Given the description of an element on the screen output the (x, y) to click on. 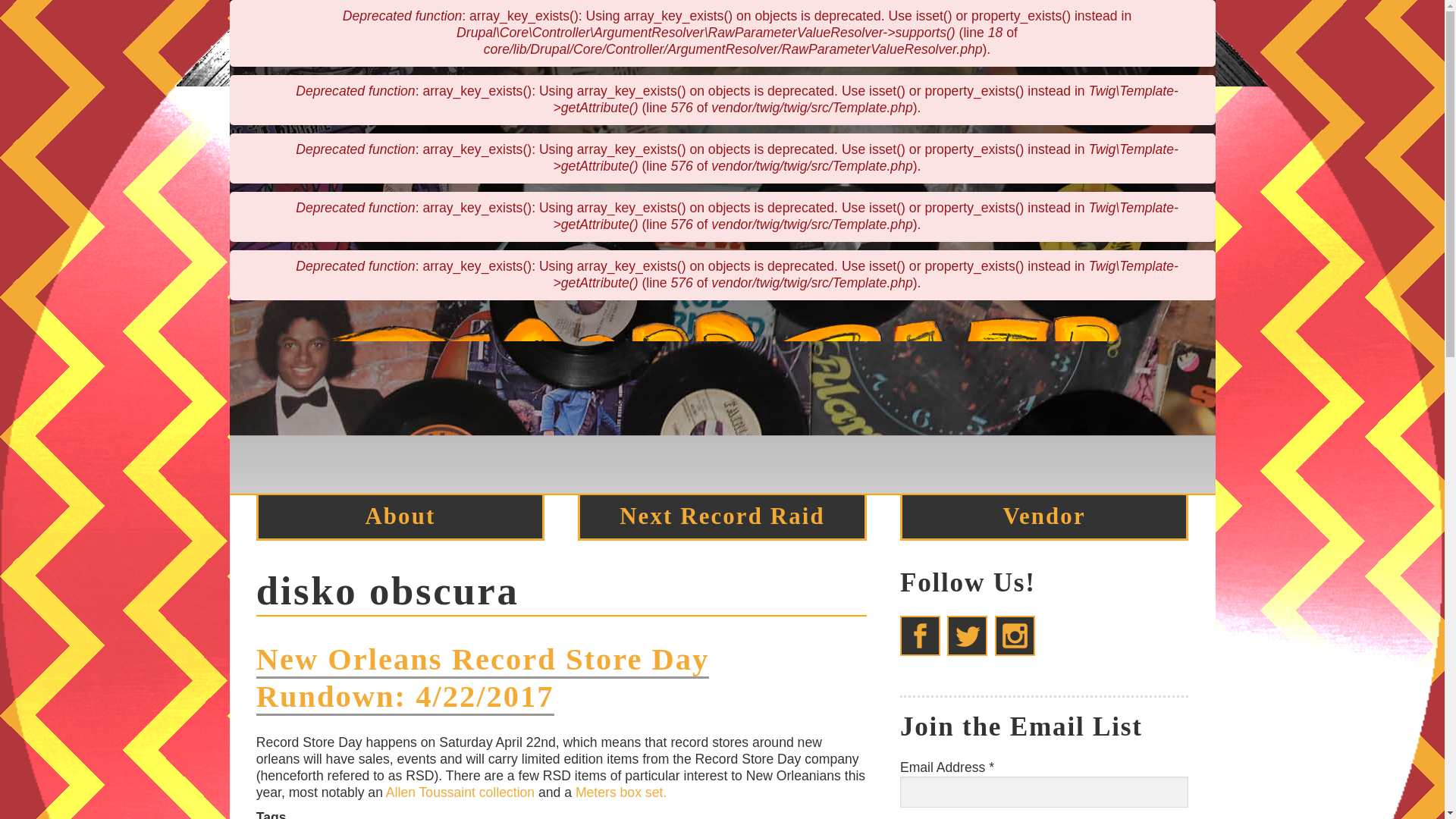
About (400, 516)
Meters box set. (620, 792)
Next Record Raid (722, 516)
Vendor (1043, 516)
Home (721, 484)
Allen Toussaint collection (458, 792)
